Given the description of an element on the screen output the (x, y) to click on. 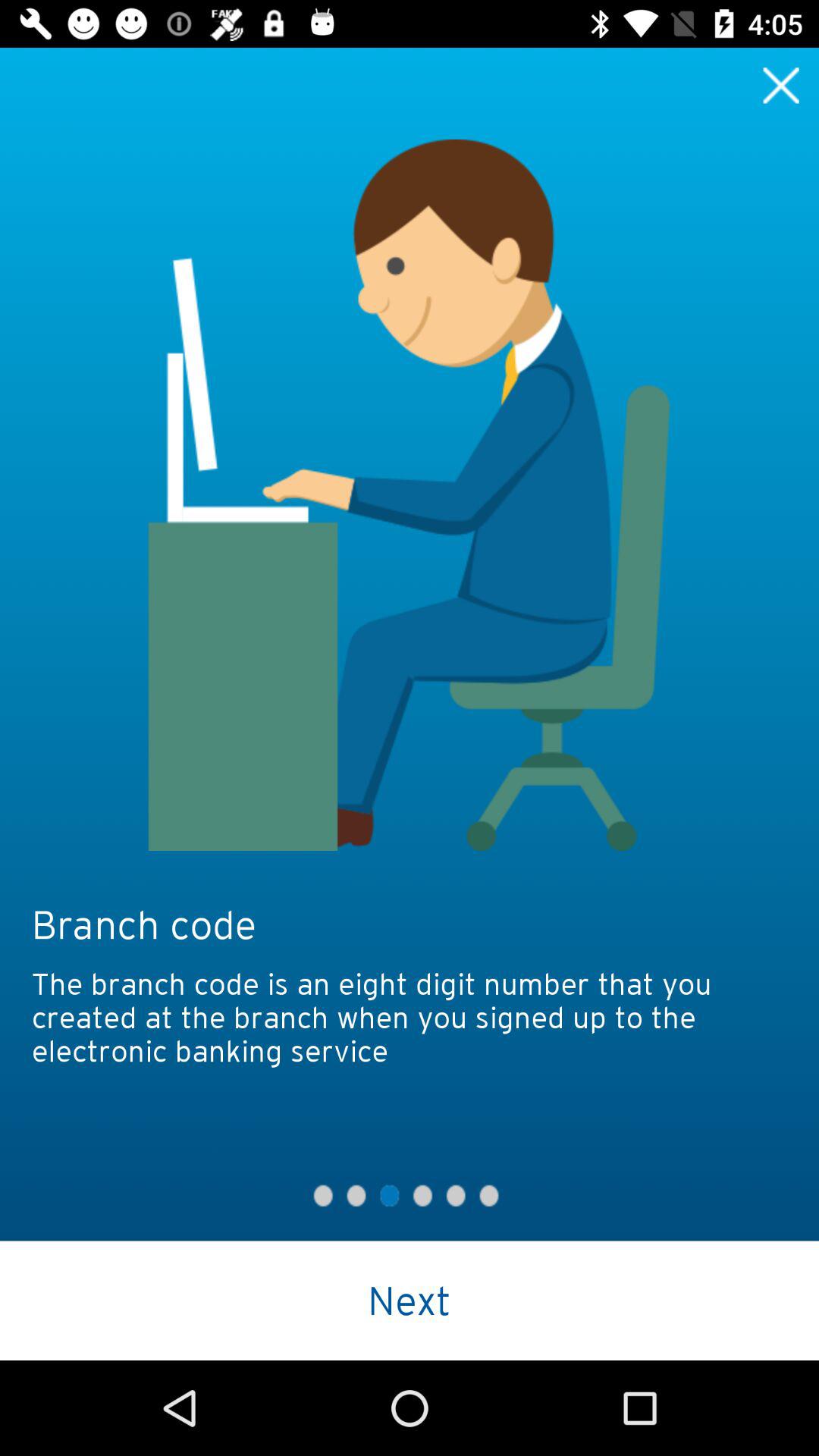
turn on next icon (409, 1300)
